Given the description of an element on the screen output the (x, y) to click on. 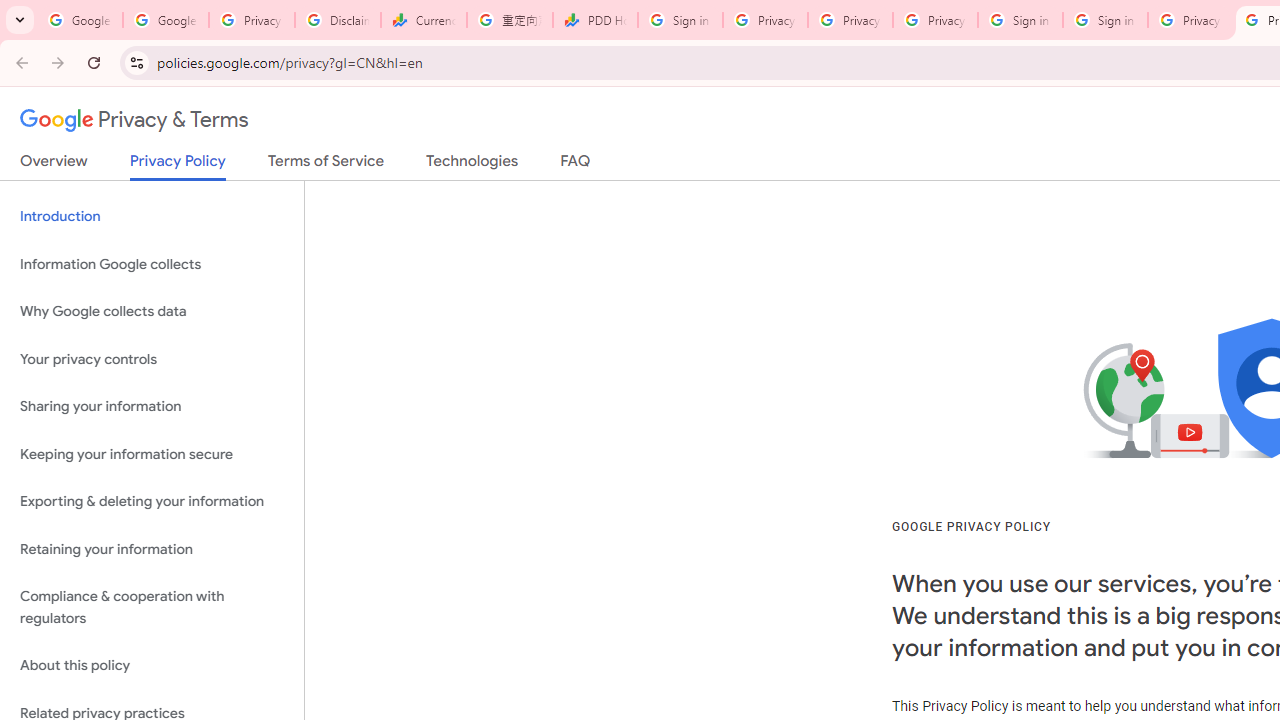
Privacy Checkup (935, 20)
